Given the description of an element on the screen output the (x, y) to click on. 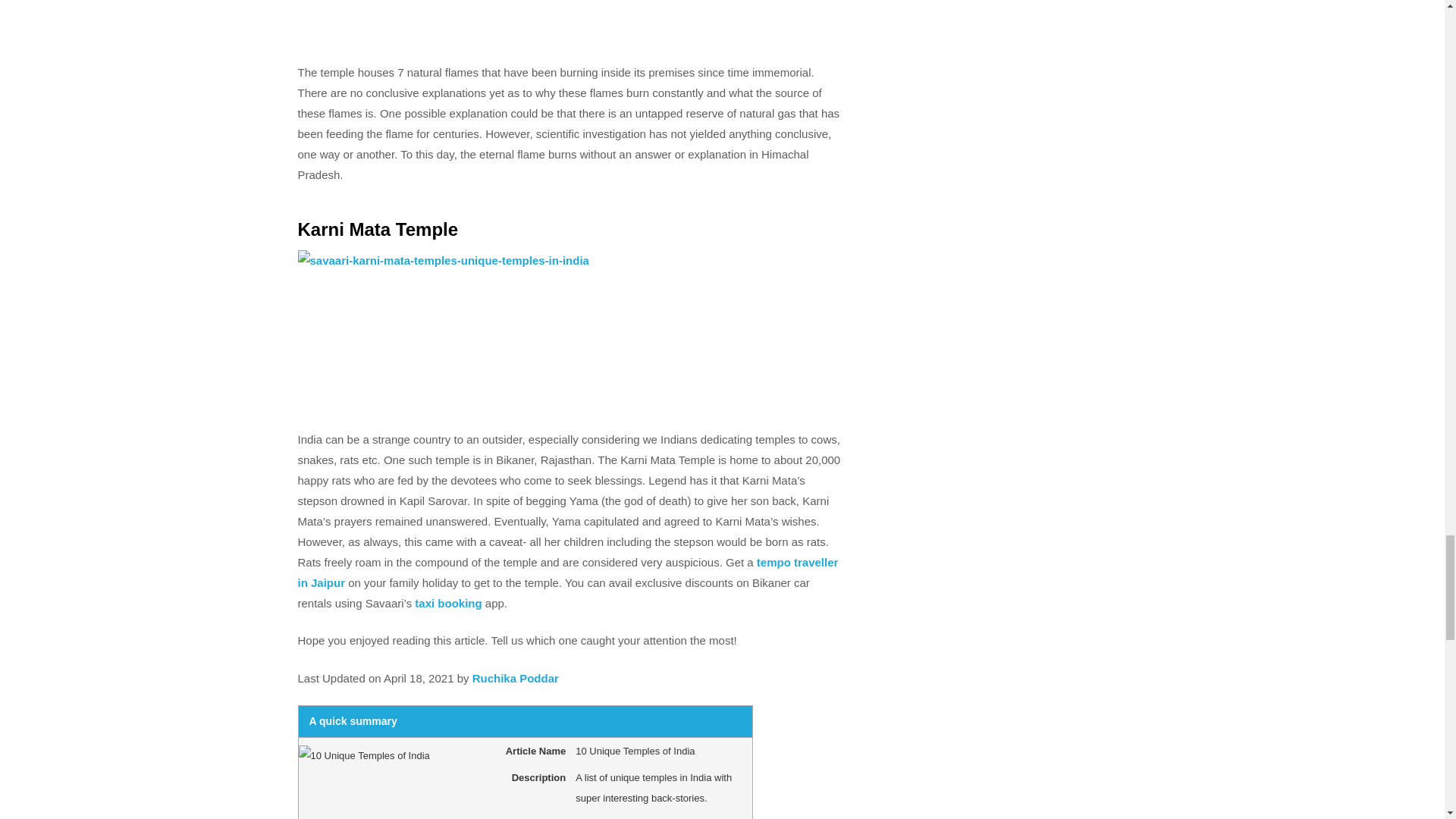
taxi booking (447, 602)
Ruchika Poddar (515, 677)
tempo traveller in Jaipur (567, 571)
